Given the description of an element on the screen output the (x, y) to click on. 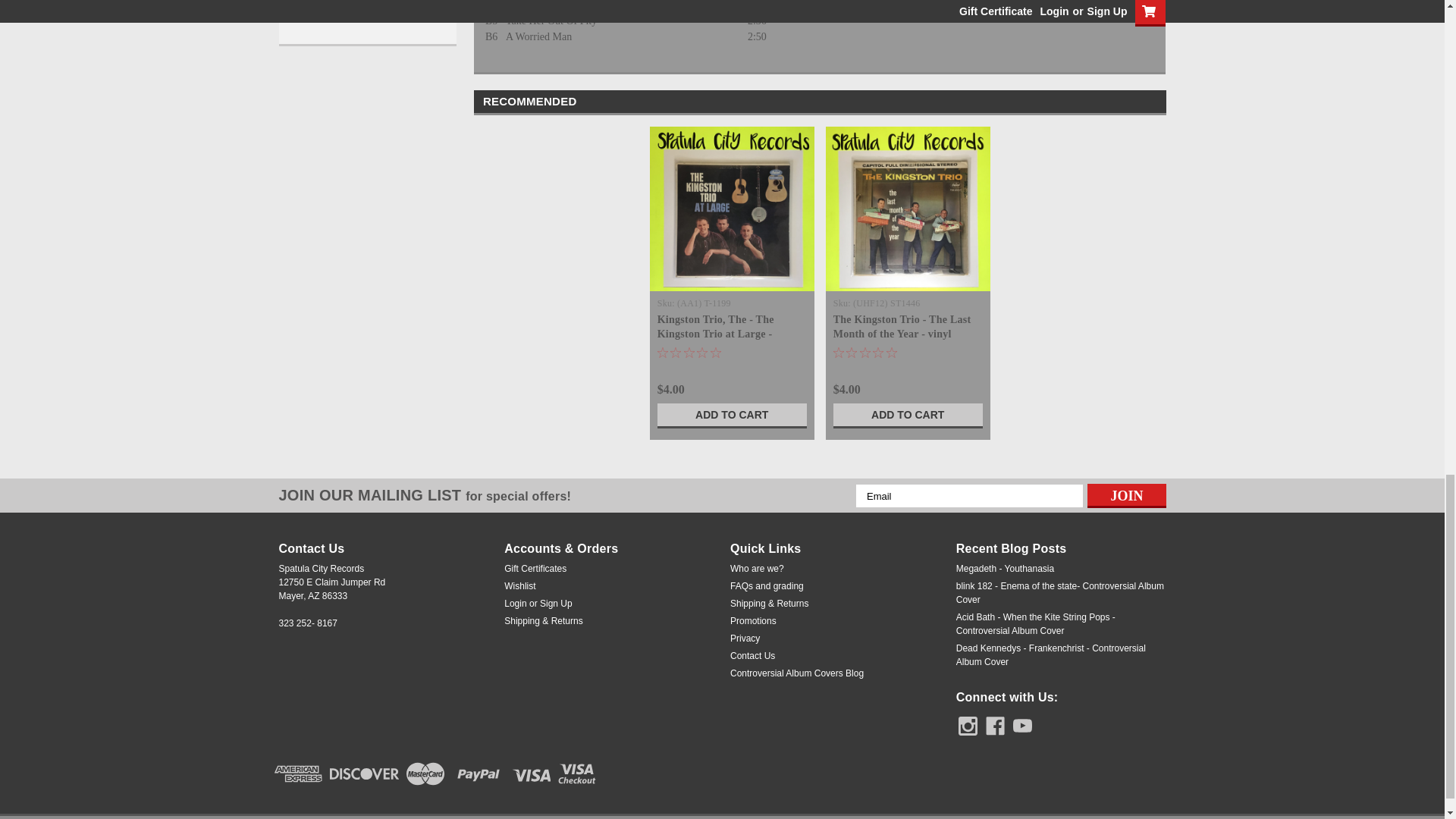
Join (1126, 495)
